Given the description of an element on the screen output the (x, y) to click on. 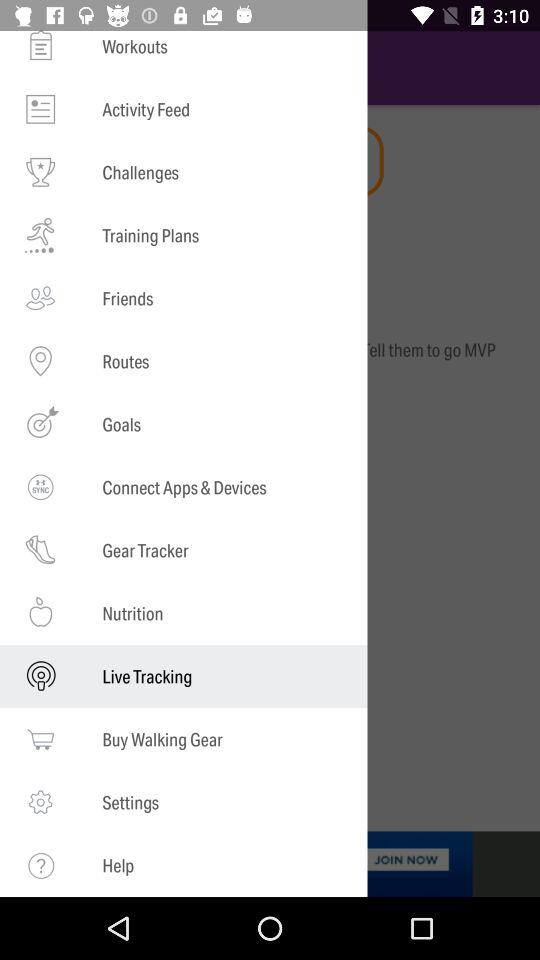
go to the icon in ninth option (40, 550)
select the icon which is before goals (40, 424)
select the icon which is left to the text activity feed (40, 109)
